Given the description of an element on the screen output the (x, y) to click on. 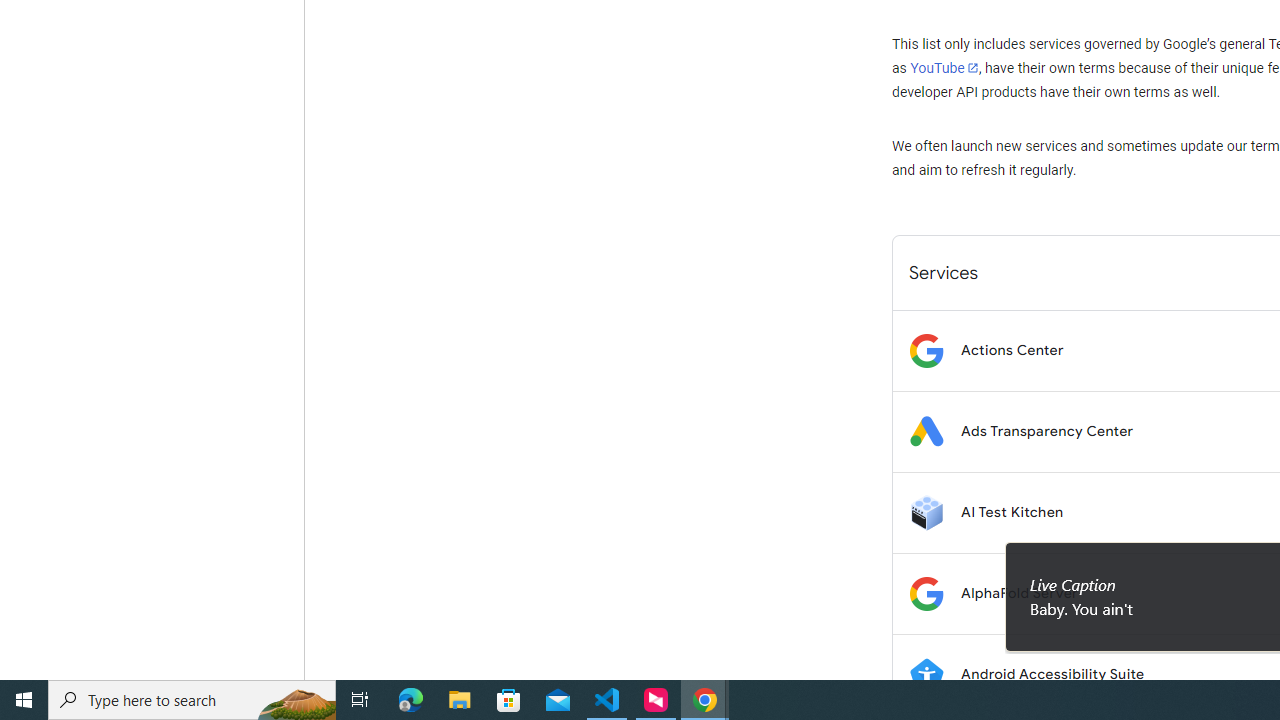
Logo for Ads Transparency Center (926, 431)
Logo for Actions Center (926, 349)
Logo for AI Test Kitchen (926, 512)
Logo for AlphaFold Server (926, 593)
YouTube (944, 68)
Logo for Android Accessibility Suite (926, 673)
